Given the description of an element on the screen output the (x, y) to click on. 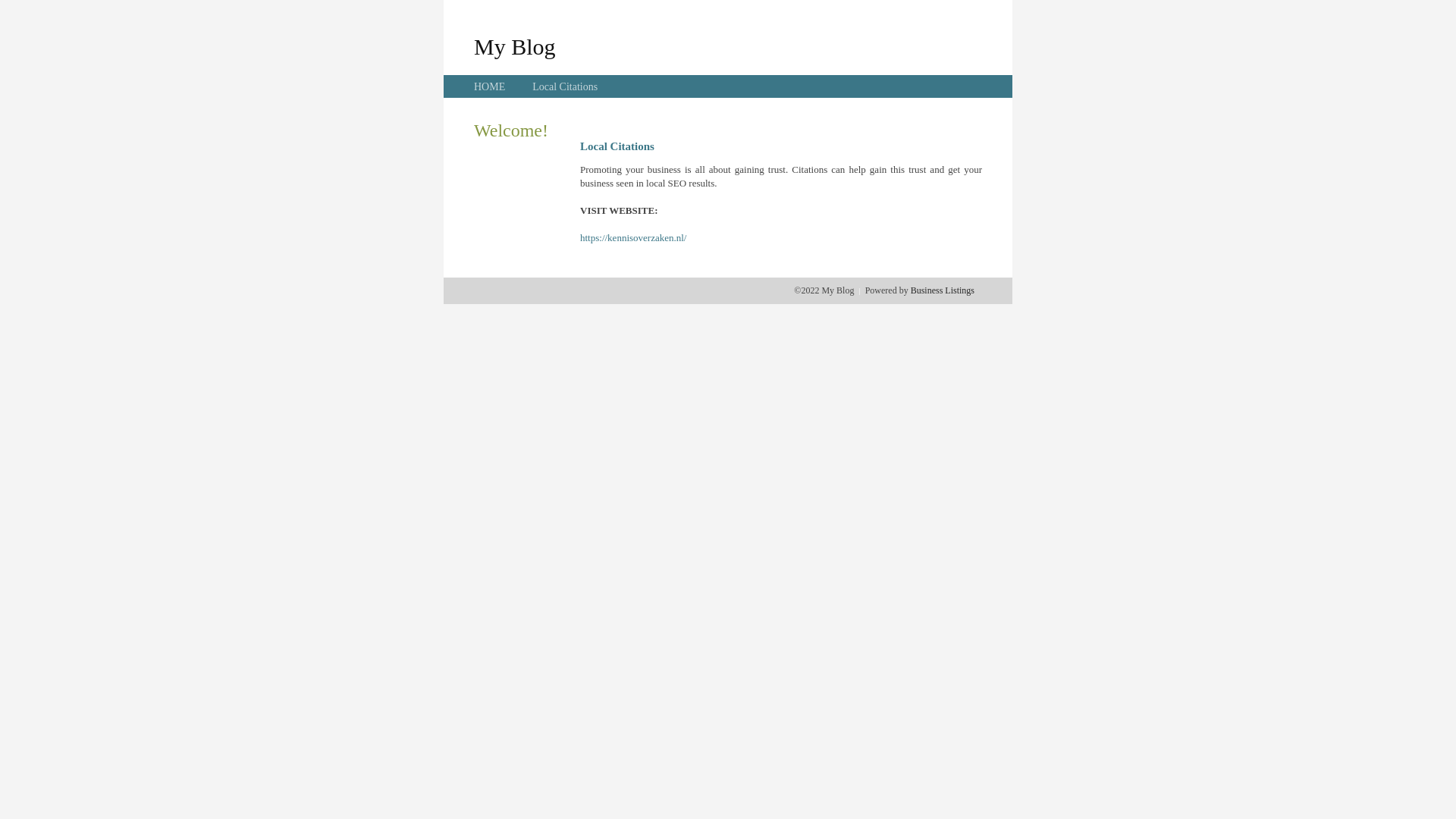
My Blog Element type: text (514, 46)
Business Listings Element type: text (942, 290)
Local Citations Element type: text (564, 86)
HOME Element type: text (489, 86)
https://kennisoverzaken.nl/ Element type: text (633, 237)
